Given the description of an element on the screen output the (x, y) to click on. 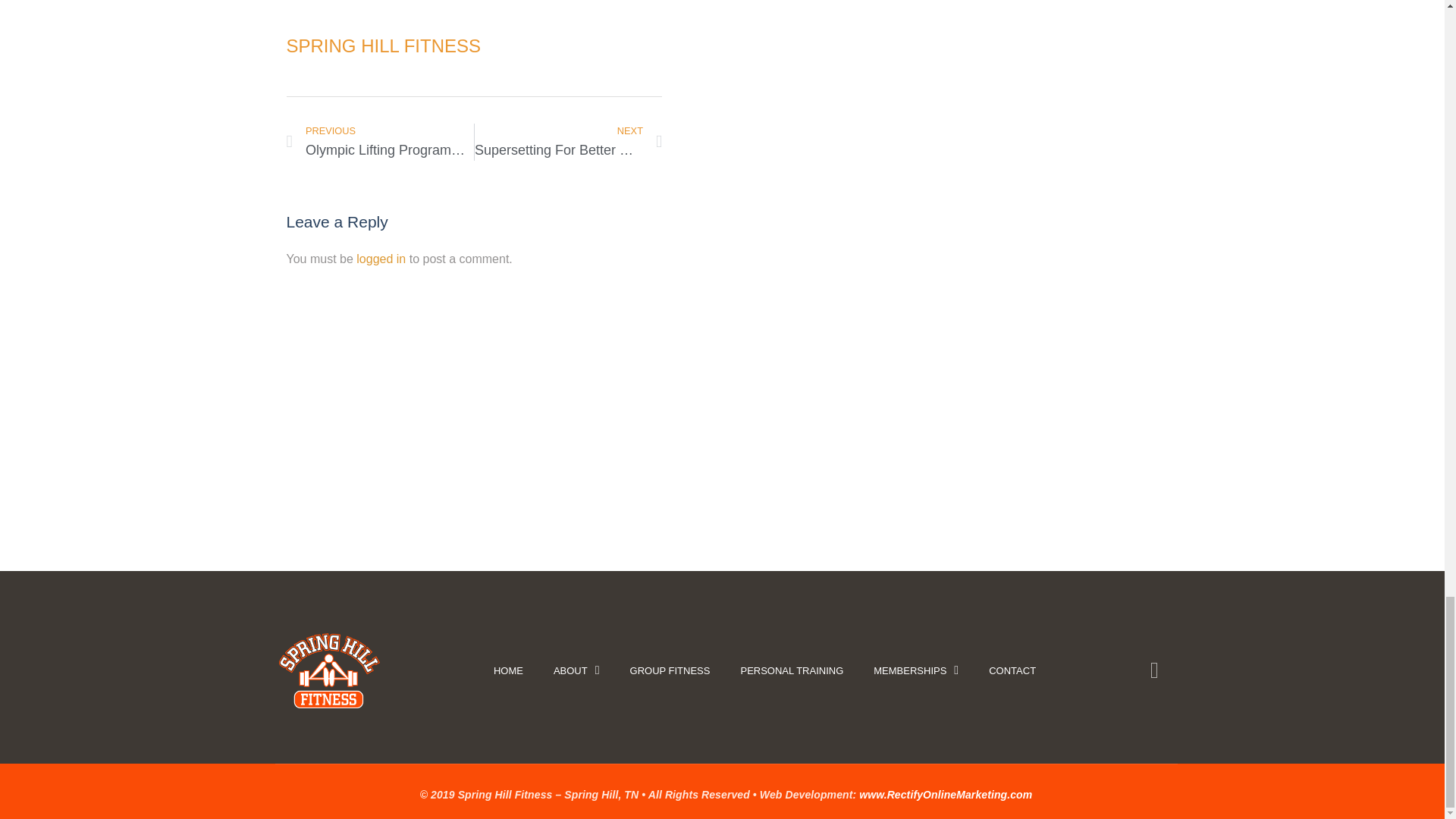
logged in (380, 141)
